Given the description of an element on the screen output the (x, y) to click on. 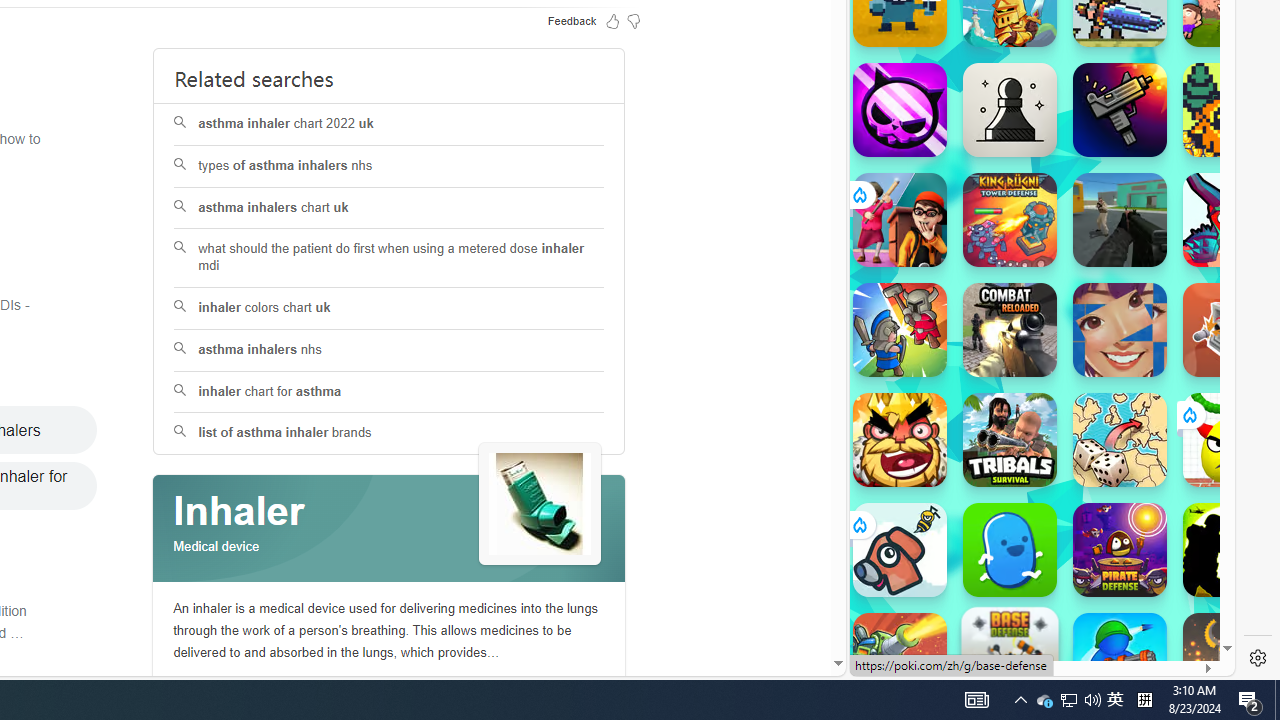
types of asthma inhalers nhs (388, 165)
Like a King Like a King (899, 439)
inhaler colors chart uk (389, 308)
asthma inhaler chart 2022 uk (389, 124)
Combat Reloaded Combat Reloaded (1009, 329)
Pirate Defense (1119, 549)
Fury Wars (899, 109)
Draw To Smash: Logic Puzzle (1229, 439)
War Master War Master (1119, 659)
Feedback Dislike (633, 20)
